Given the description of an element on the screen output the (x, y) to click on. 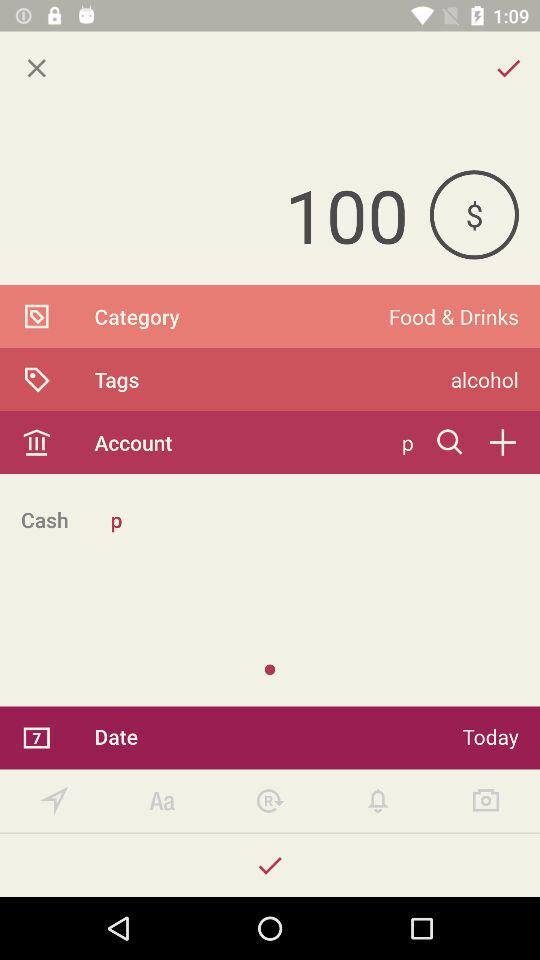
click the icon above the food & drinks item (474, 214)
